Given the description of an element on the screen output the (x, y) to click on. 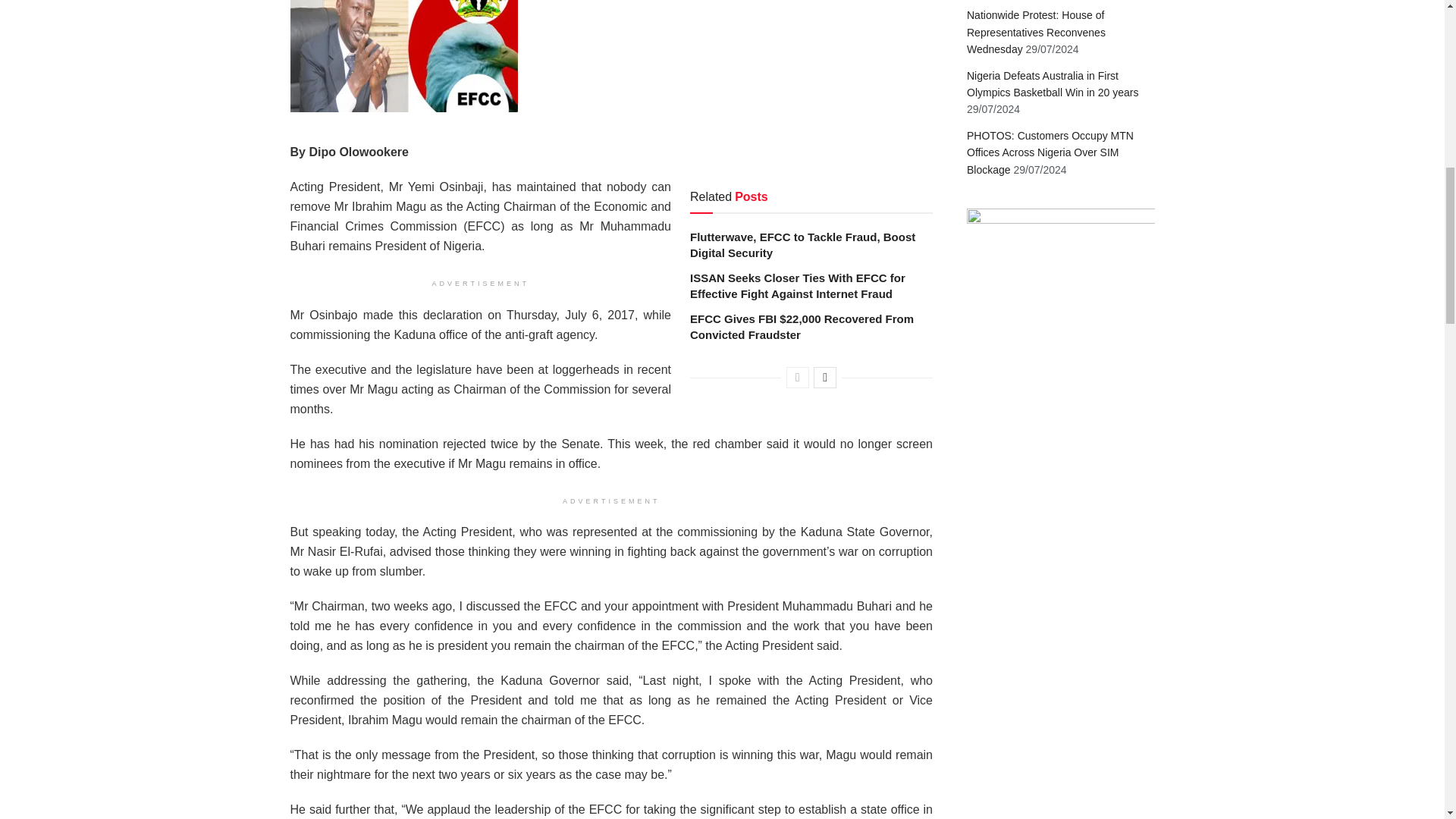
Next (824, 377)
Previous (797, 377)
Flutterwave, EFCC to Tackle Fraud, Boost Digital Security (802, 244)
